Given the description of an element on the screen output the (x, y) to click on. 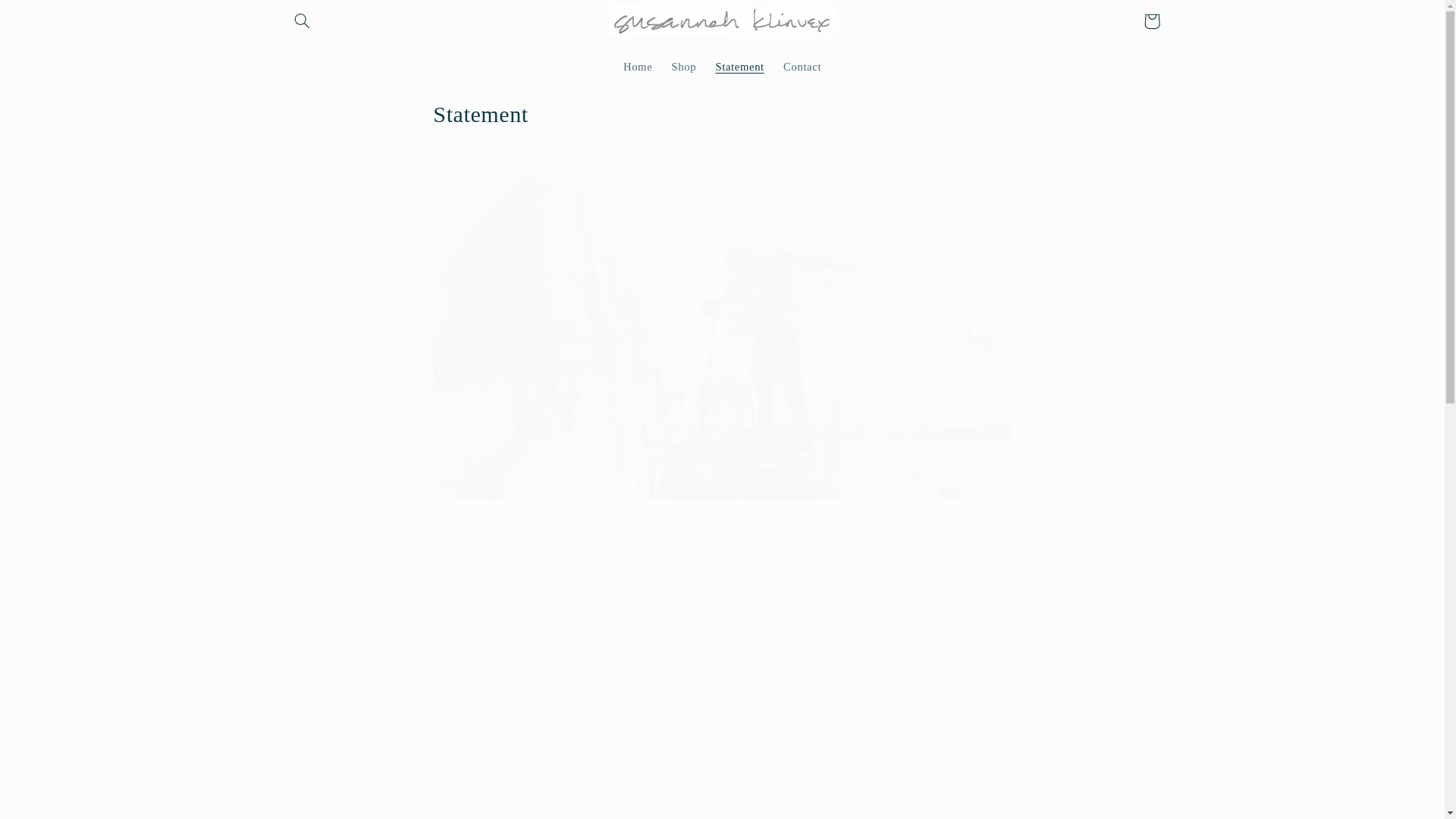
Shop (684, 67)
Home (637, 67)
Statement (740, 67)
Statement (721, 113)
Contact (801, 67)
Cart (1151, 21)
Skip to content (48, 18)
